Given the description of an element on the screen output the (x, y) to click on. 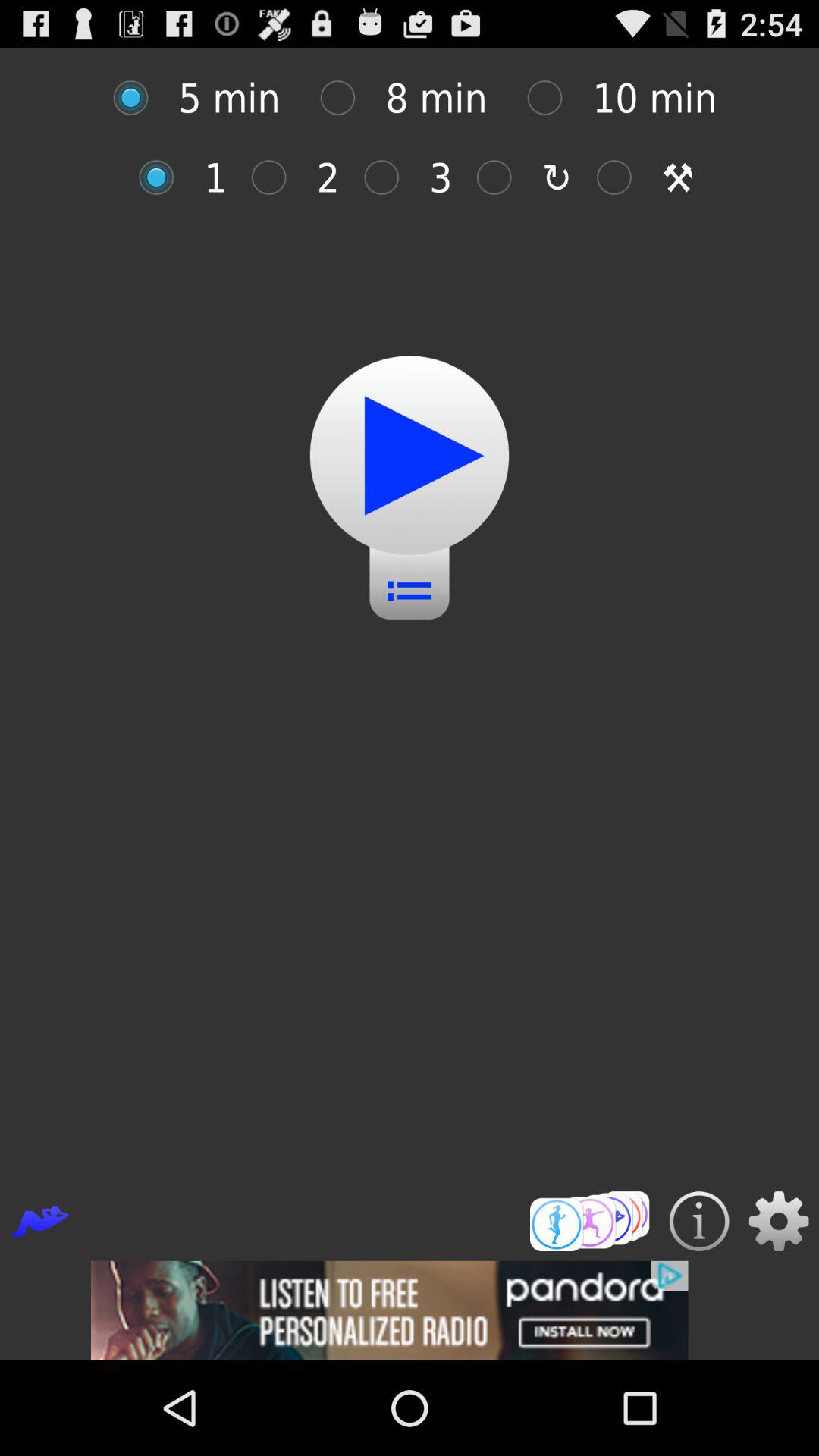
select button (276, 177)
